Given the description of an element on the screen output the (x, y) to click on. 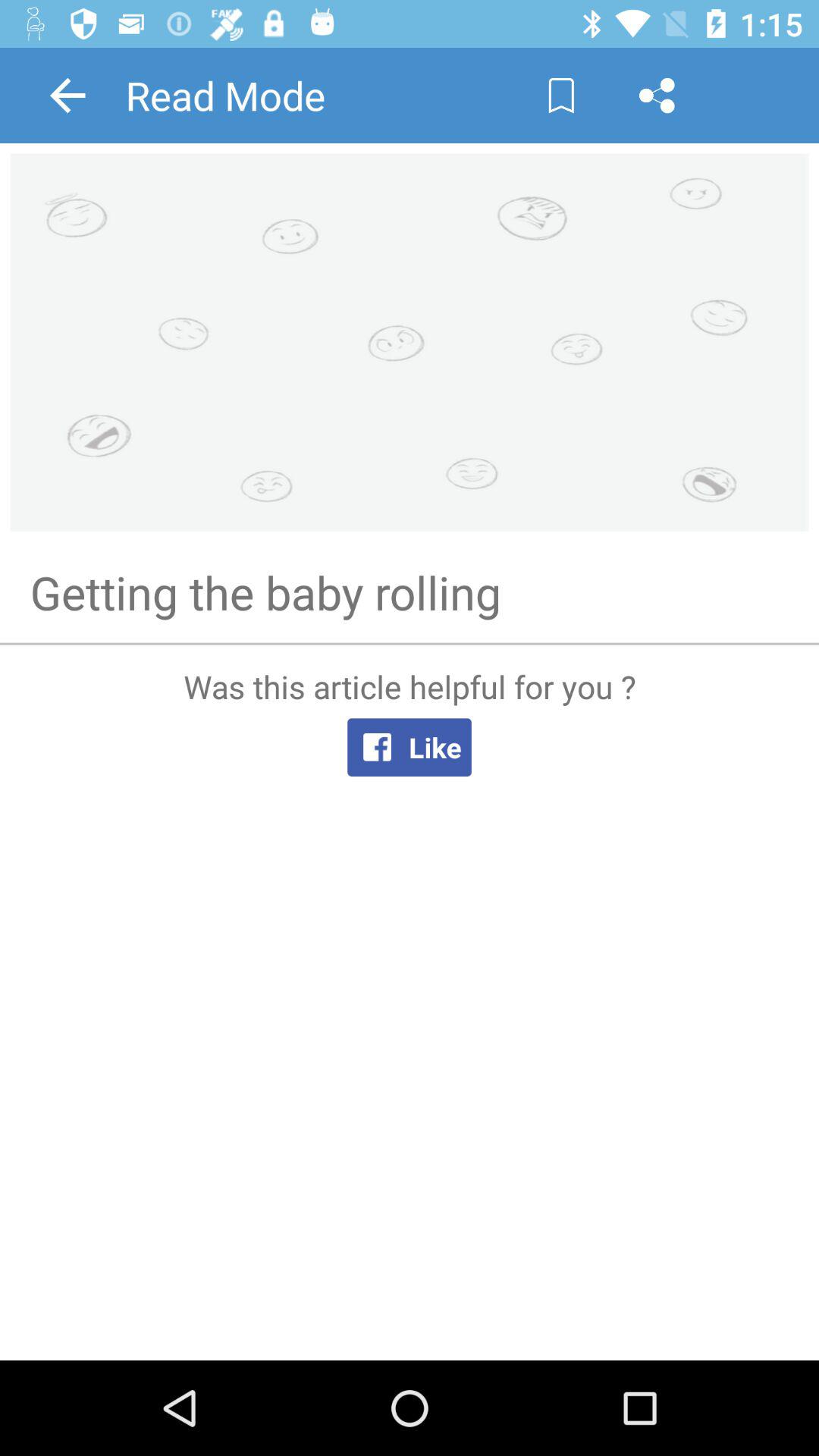
save page (561, 95)
